Given the description of an element on the screen output the (x, y) to click on. 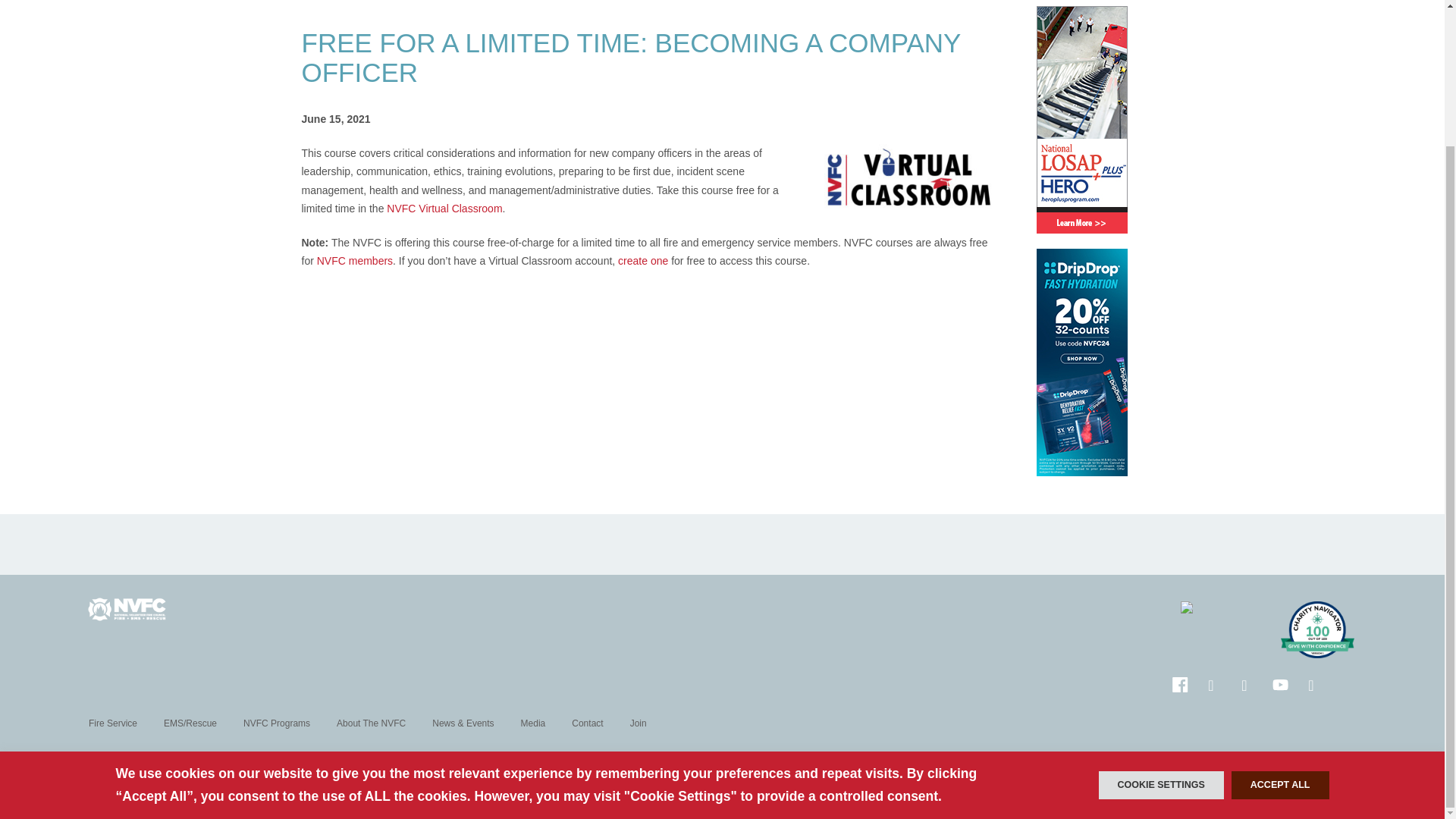
NVFC members (355, 260)
create one (642, 260)
NVFC Virtual Classroom (444, 208)
